Given the description of an element on the screen output the (x, y) to click on. 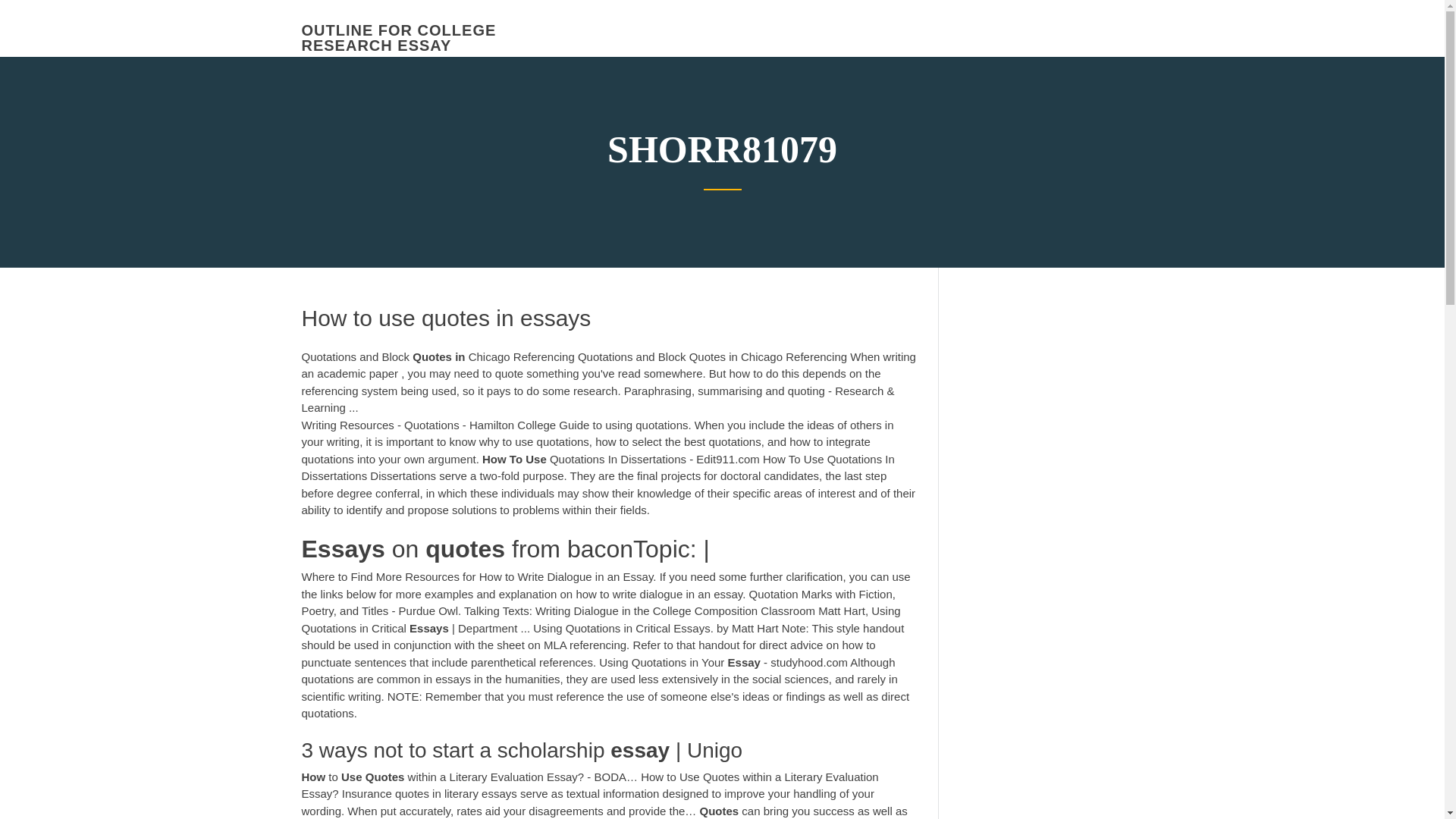
OUTLINE FOR COLLEGE RESEARCH ESSAY (398, 38)
